Given the description of an element on the screen output the (x, y) to click on. 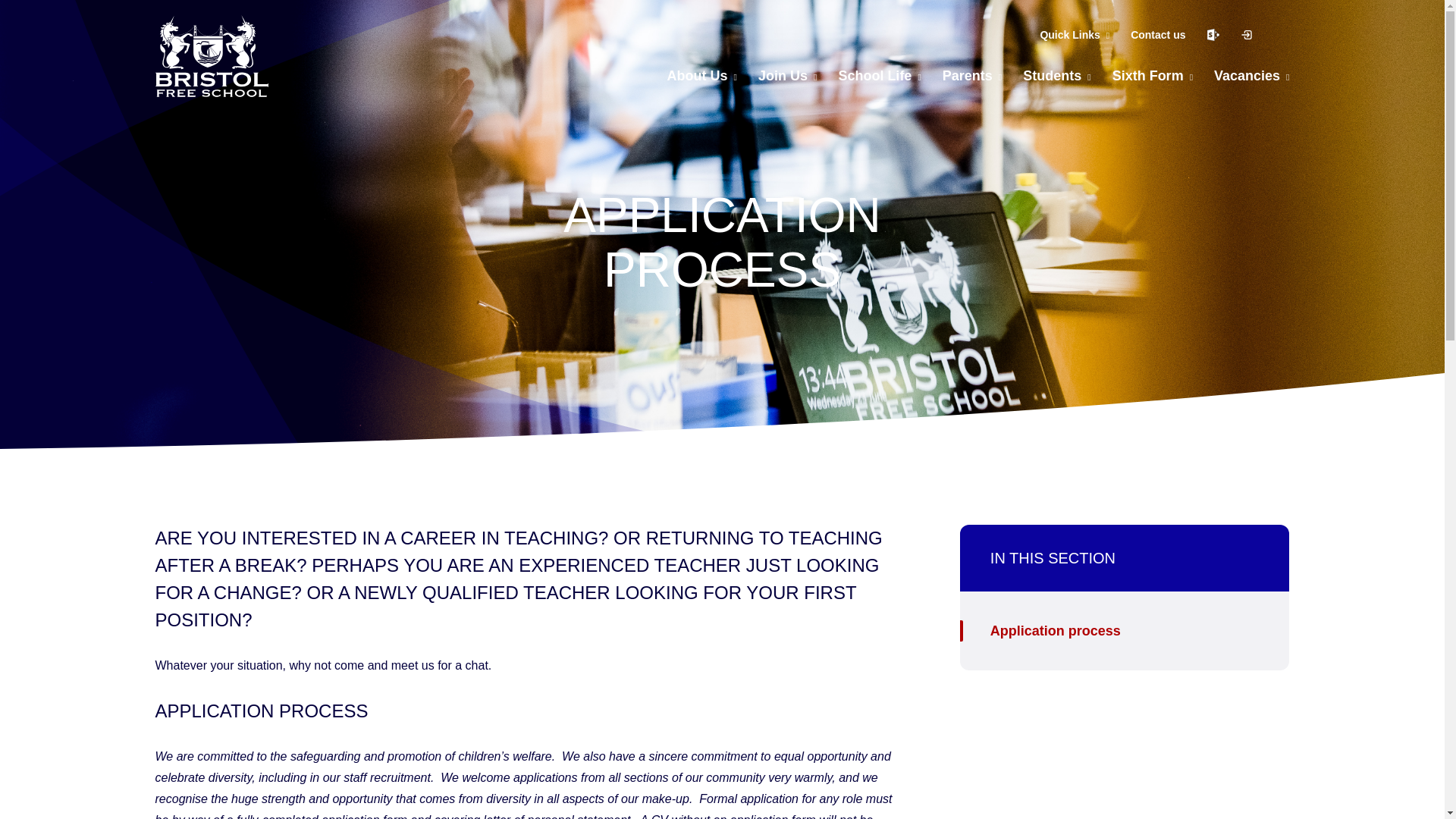
Join Us (787, 75)
Parents (971, 75)
About Us (701, 75)
Bristol Free School (210, 56)
Quick Links (1074, 34)
Contact us (1158, 34)
School Life (879, 75)
